Given the description of an element on the screen output the (x, y) to click on. 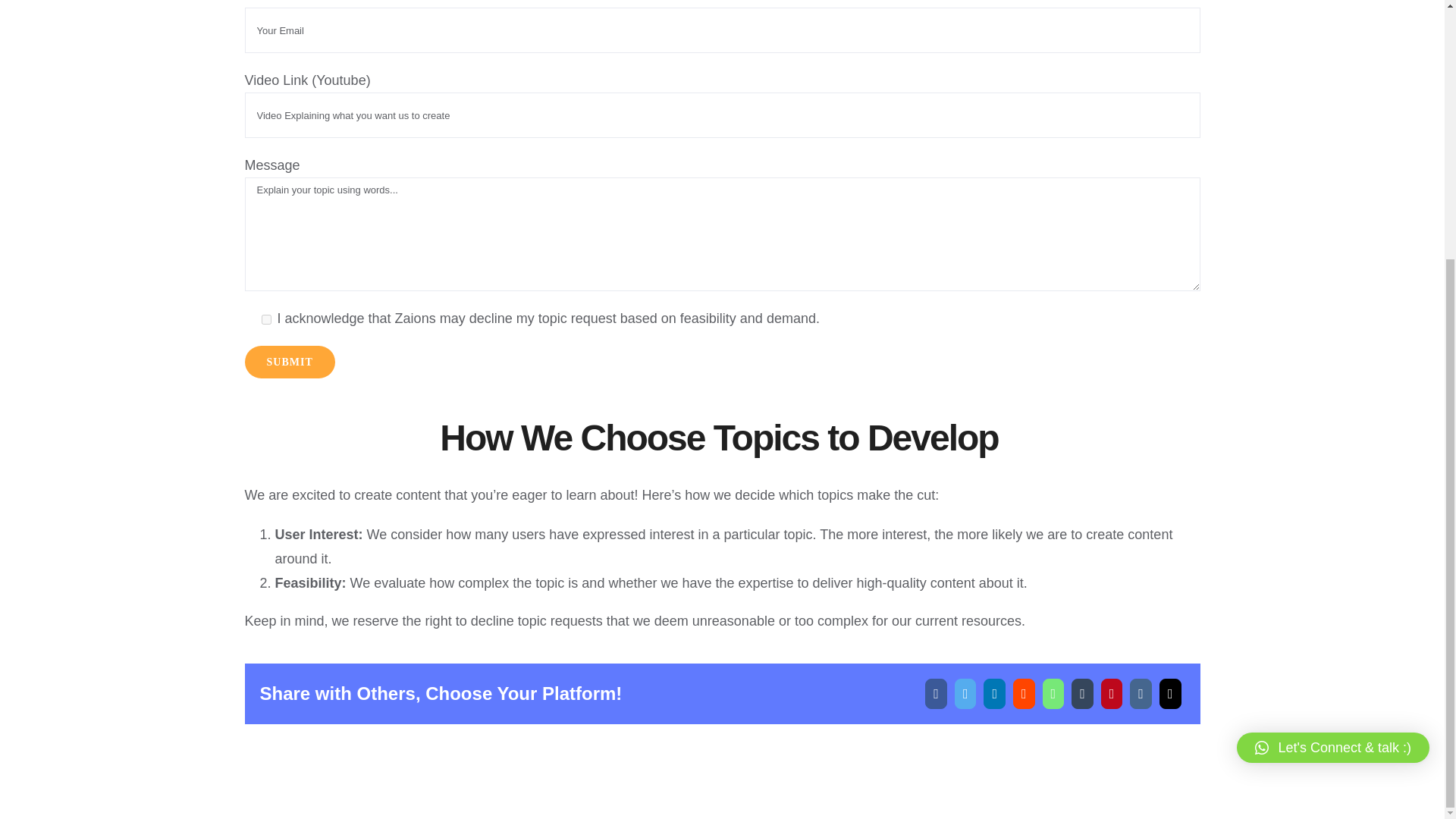
Content Writing (844, 283)
What We Do (224, 283)
Web App Development (339, 283)
Submit (289, 361)
Website Optimization (473, 283)
Submit (289, 361)
Who We Are (134, 283)
Home (59, 283)
Keyword Research (651, 283)
